Given the description of an element on the screen output the (x, y) to click on. 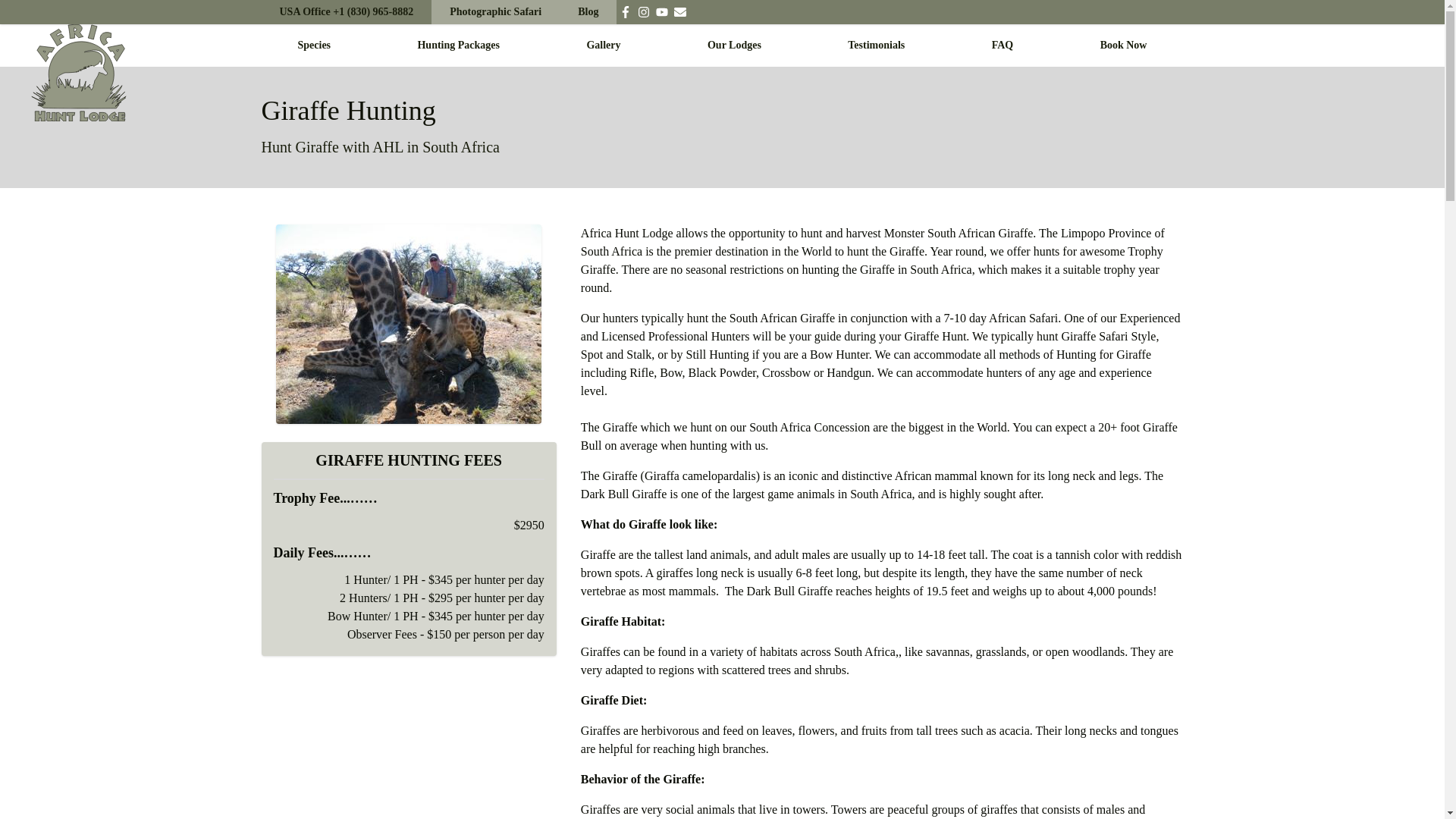
FAQ (1002, 45)
Photographic Safari (494, 12)
Our Lodges (734, 45)
Blog (587, 12)
Book Now (1123, 45)
Species (313, 45)
Africa Hunt Lodge (79, 72)
Gallery (603, 45)
Hunting Packages (457, 45)
Testimonials (875, 45)
